Given the description of an element on the screen output the (x, y) to click on. 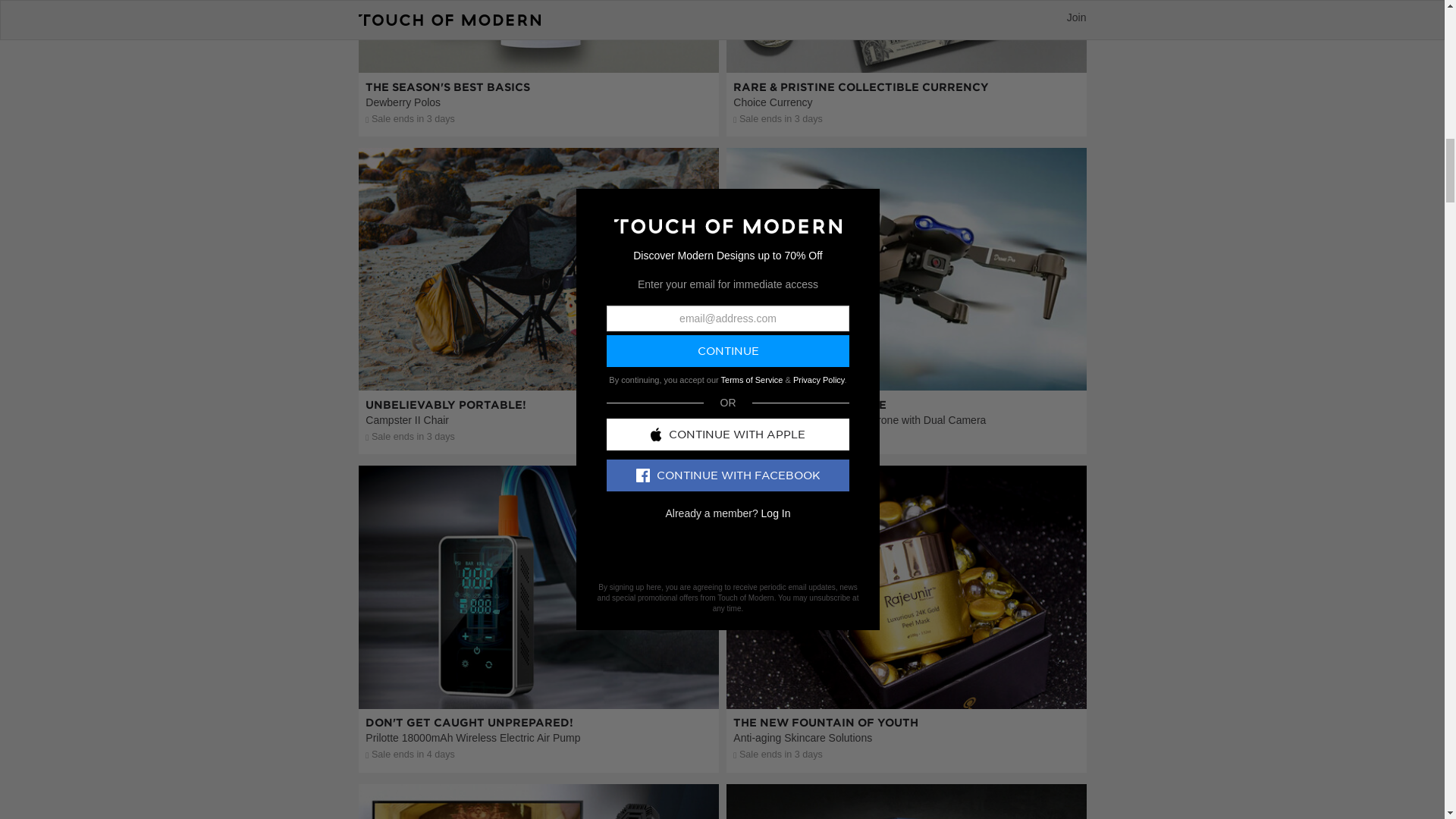
Don't Get Caught Unprepared! (537, 675)
Unbelievably Portable! (537, 358)
High Flying Adventure (906, 358)
The Season's Best Basics (537, 68)
